Given the description of an element on the screen output the (x, y) to click on. 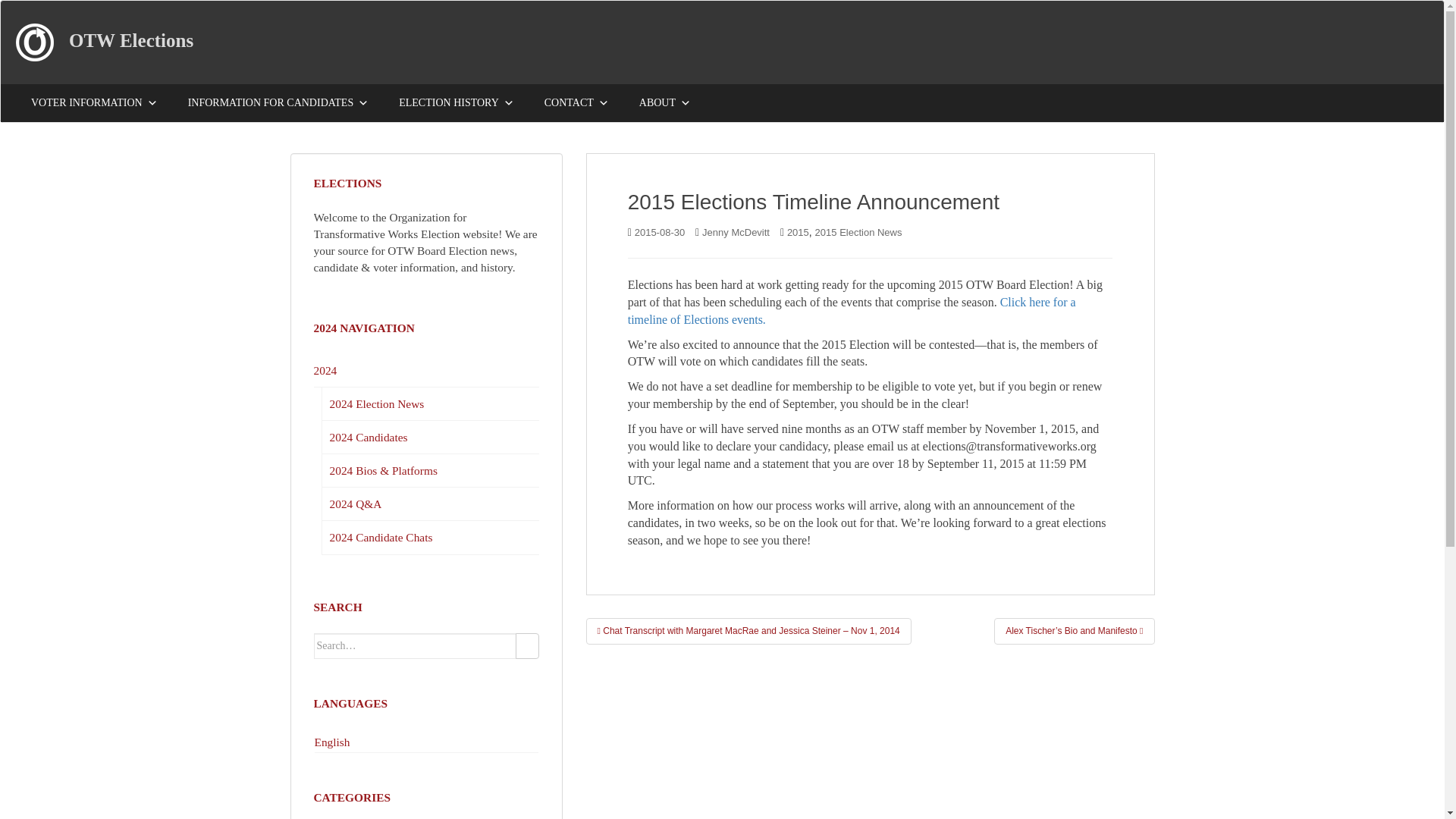
VOTER INFORMATION (94, 103)
Search for: (415, 646)
ABOUT (665, 103)
ELECTION HISTORY (456, 103)
INFORMATION FOR CANDIDATES (278, 103)
CONTACT (576, 103)
OTW Elections (130, 40)
2015-08-30 (659, 232)
OTW Elections (130, 40)
About the Elections Committee (665, 103)
